Given the description of an element on the screen output the (x, y) to click on. 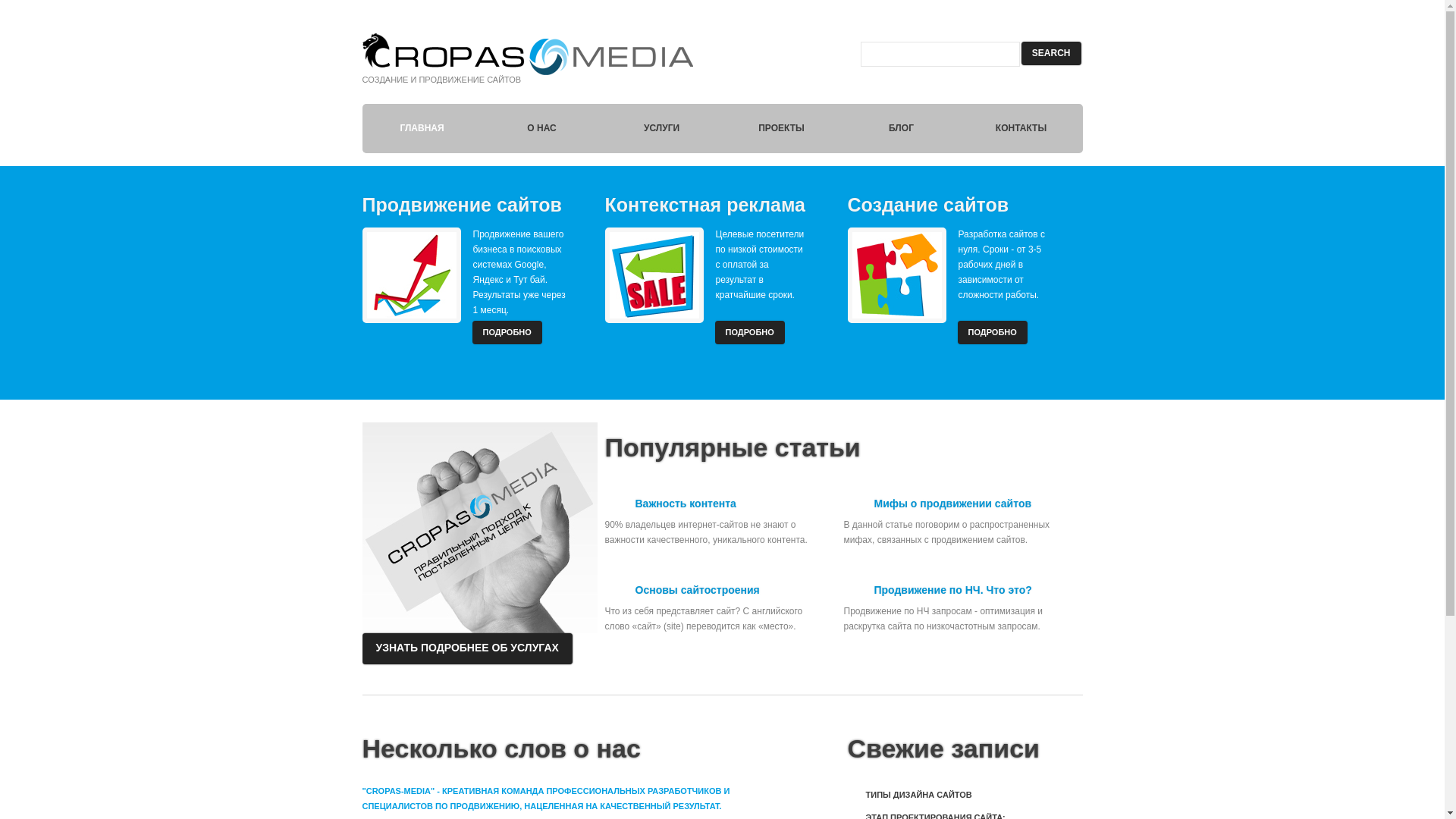
search Element type: text (1051, 53)
